Given the description of an element on the screen output the (x, y) to click on. 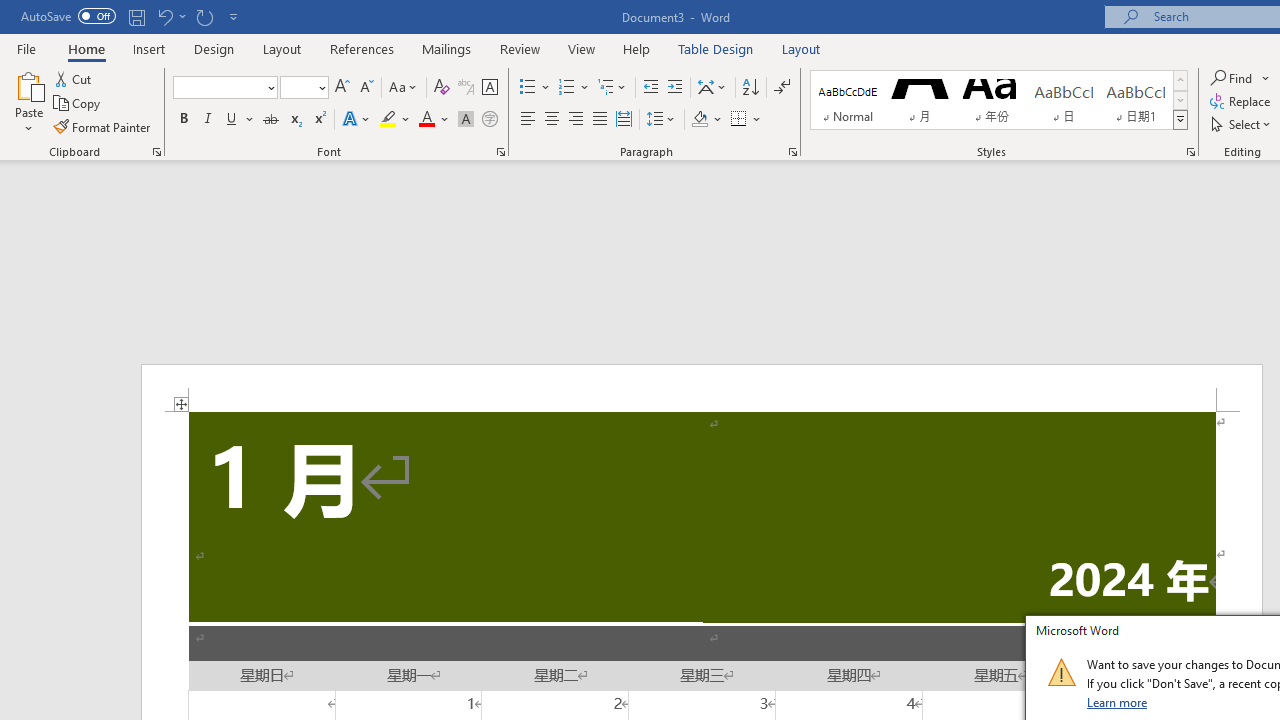
Text Effects and Typography (357, 119)
Font Color RGB(255, 0, 0) (426, 119)
Line and Paragraph Spacing (661, 119)
Shading (706, 119)
Font Color (434, 119)
